Given the description of an element on the screen output the (x, y) to click on. 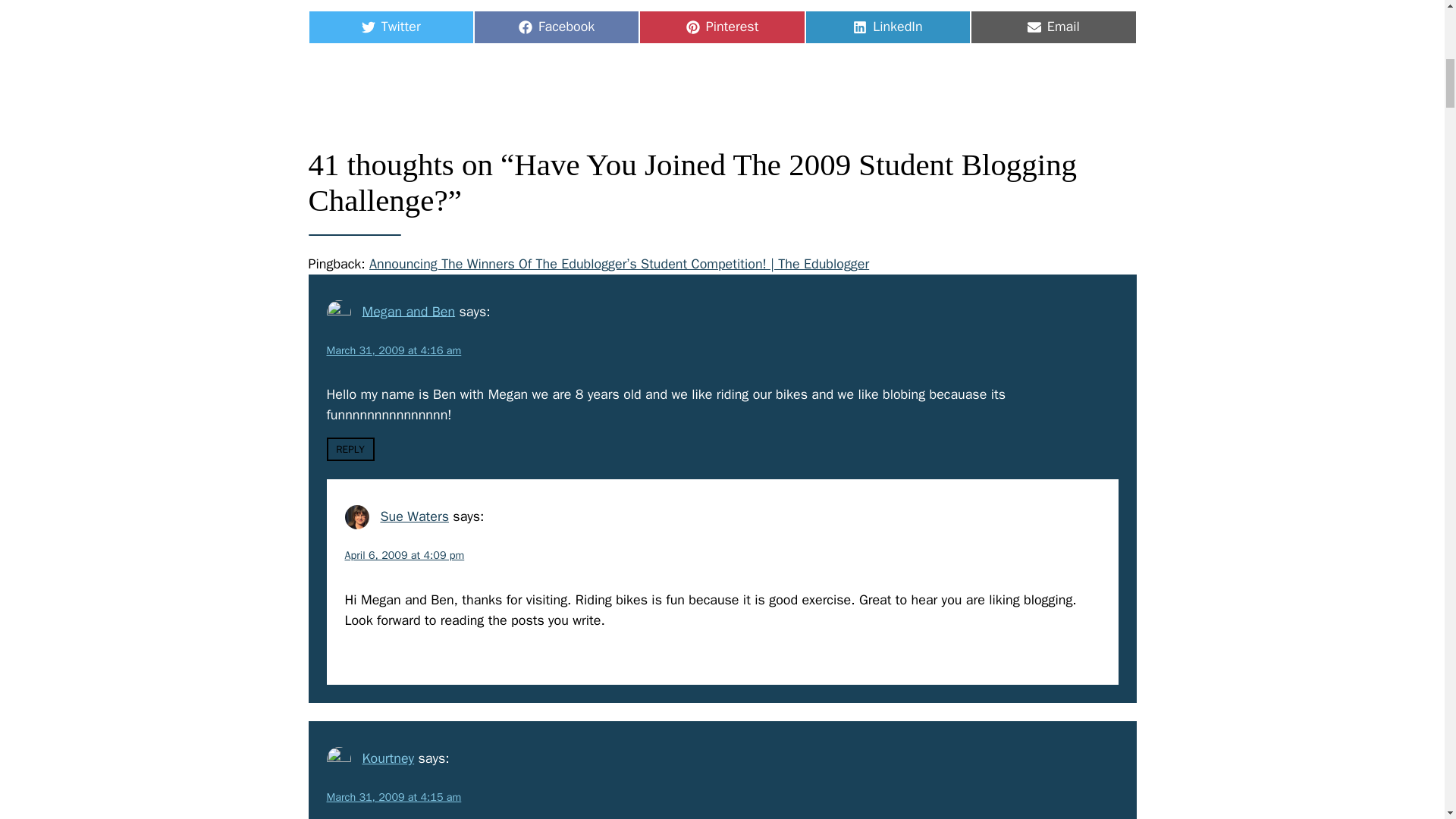
March 31, 2009 at 4:15 am (1053, 27)
Kourtney (393, 796)
Sue Waters (387, 758)
April 6, 2009 at 4:09 pm (888, 27)
REPLY (414, 515)
March 31, 2009 at 4:16 am (722, 27)
